Given the description of an element on the screen output the (x, y) to click on. 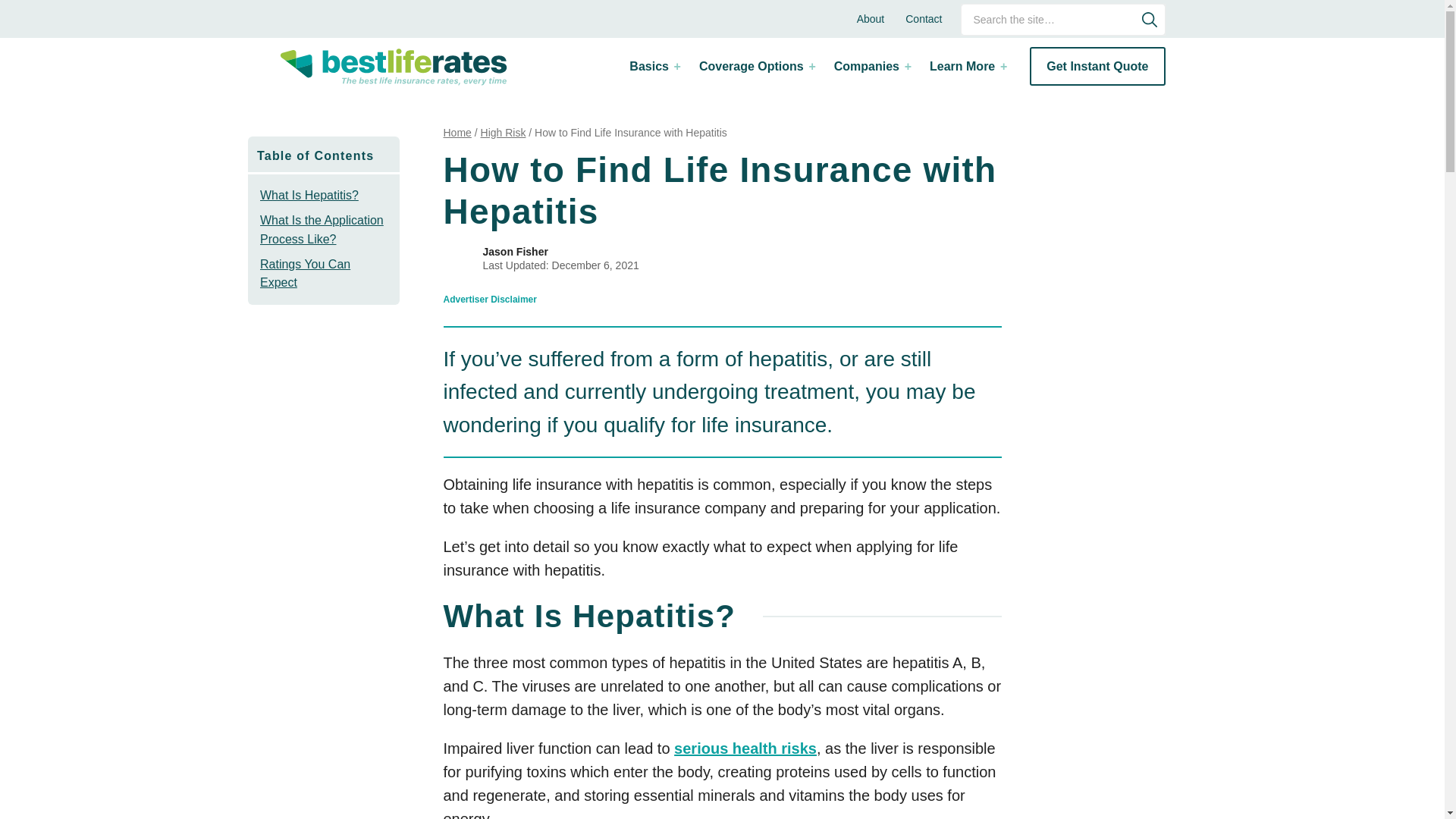
Contact (923, 18)
Coverage Options (756, 66)
About (870, 18)
Learn More (966, 66)
Companies (871, 66)
BestLifeRates.org (392, 66)
Search for (1062, 19)
Basics (653, 66)
